Given the description of an element on the screen output the (x, y) to click on. 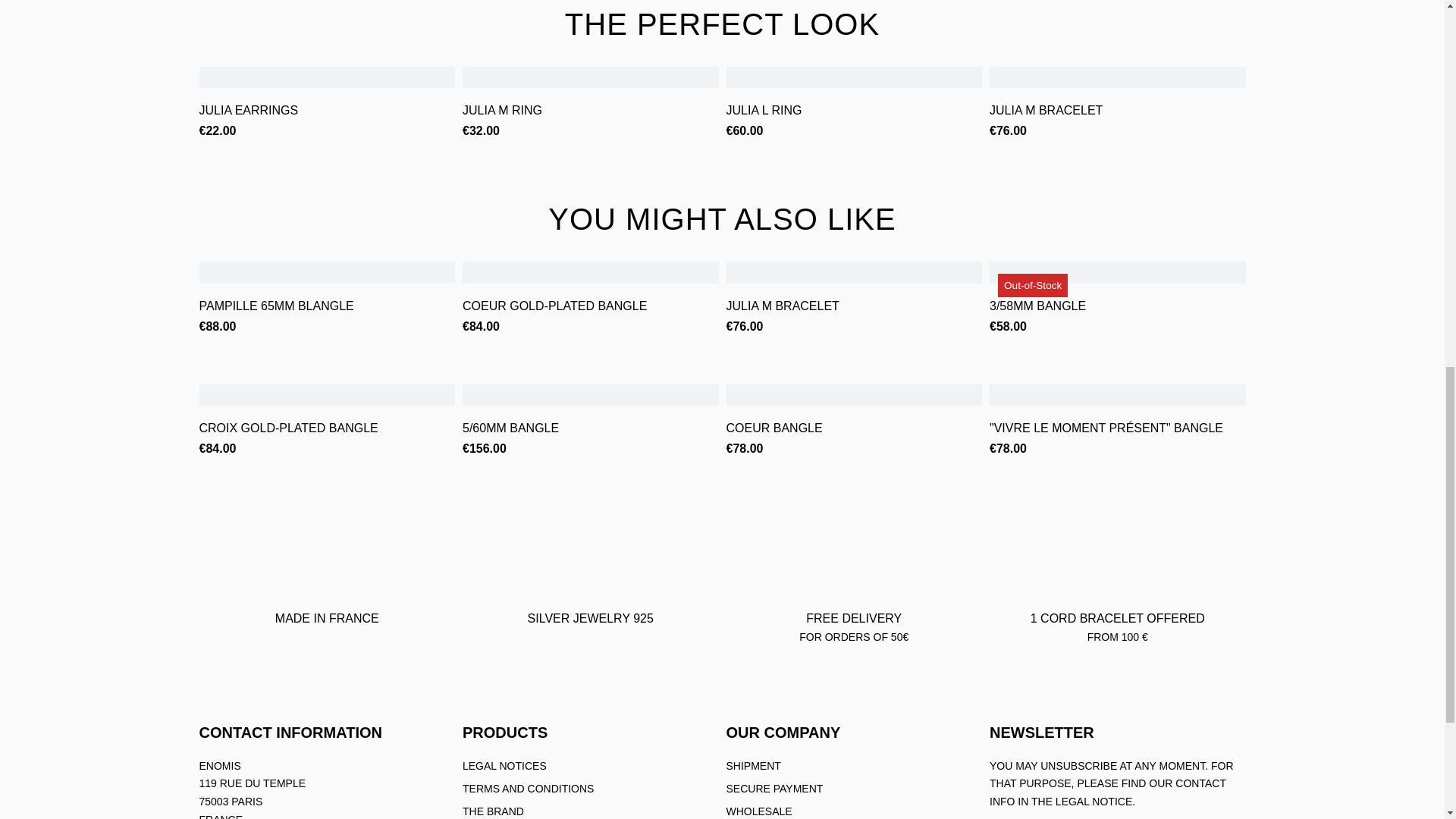
Our Shipping terms (753, 766)
Legal Notices (505, 766)
